Given the description of an element on the screen output the (x, y) to click on. 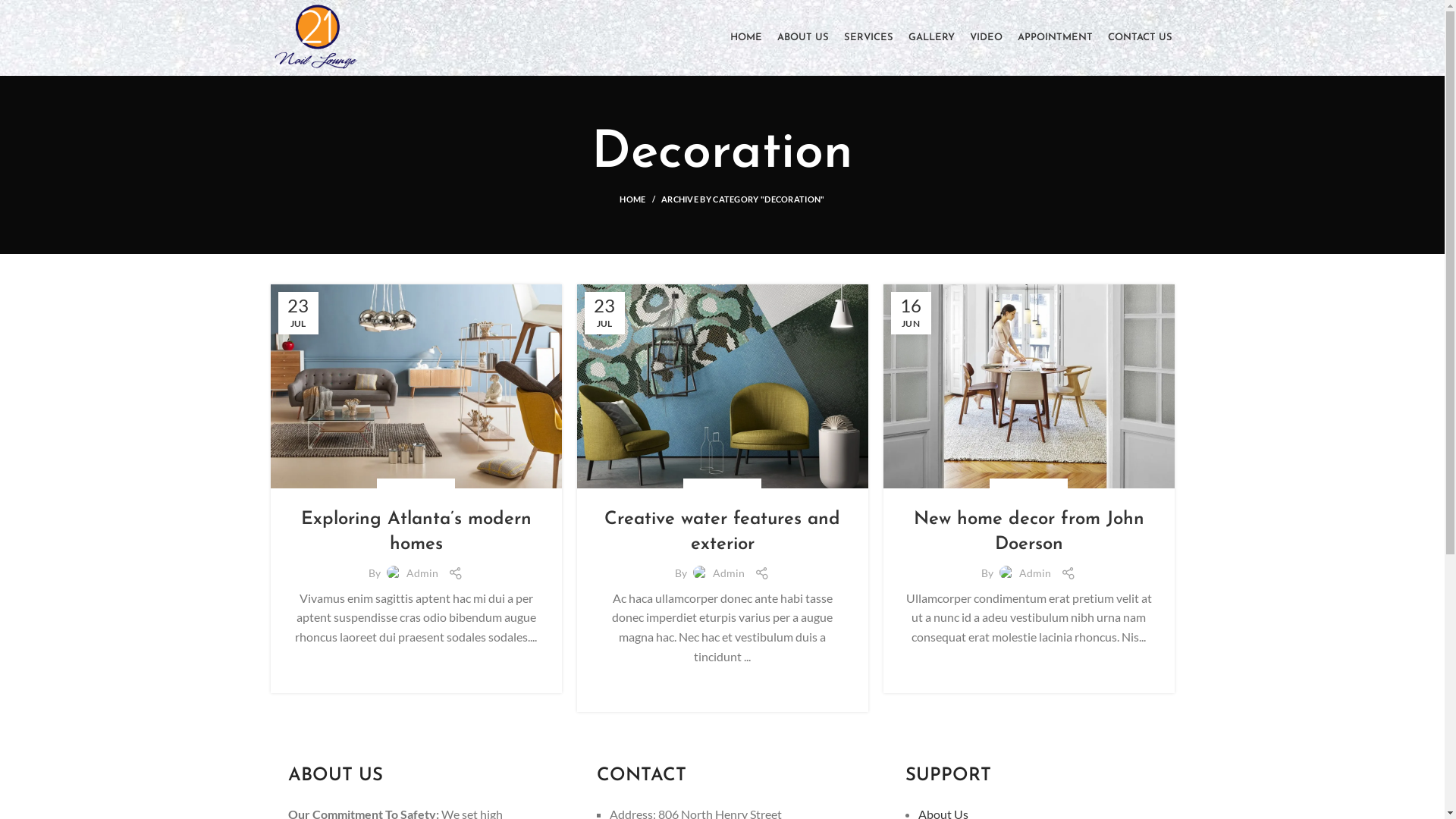
Admin Element type: text (422, 572)
DECORATION Element type: text (721, 487)
GALLERY Element type: text (931, 37)
VIDEO Element type: text (985, 37)
CONTACT US Element type: text (1139, 37)
HOME Element type: text (640, 199)
SERVICES Element type: text (867, 37)
ABOUT US Element type: text (801, 37)
DECORATION Element type: text (1028, 487)
wd-blog-5 Element type: hover (721, 385)
23
JUL Element type: text (603, 312)
CONTINUE READING Element type: text (415, 669)
CONTINUE READING Element type: text (721, 688)
DECORATION Element type: text (415, 487)
New home decor from John Doerson Element type: text (1028, 532)
Admin Element type: text (1035, 572)
wd-blog-9 Element type: hover (415, 385)
CONTINUE READING Element type: text (1028, 669)
APPOINTMENT Element type: text (1055, 37)
16
JUN Element type: text (910, 312)
Admin Element type: text (728, 572)
wd-blog-2 Element type: hover (1028, 385)
23
JUL Element type: text (297, 312)
HOME Element type: text (744, 37)
Creative water features and exterior Element type: text (722, 532)
